Given the description of an element on the screen output the (x, y) to click on. 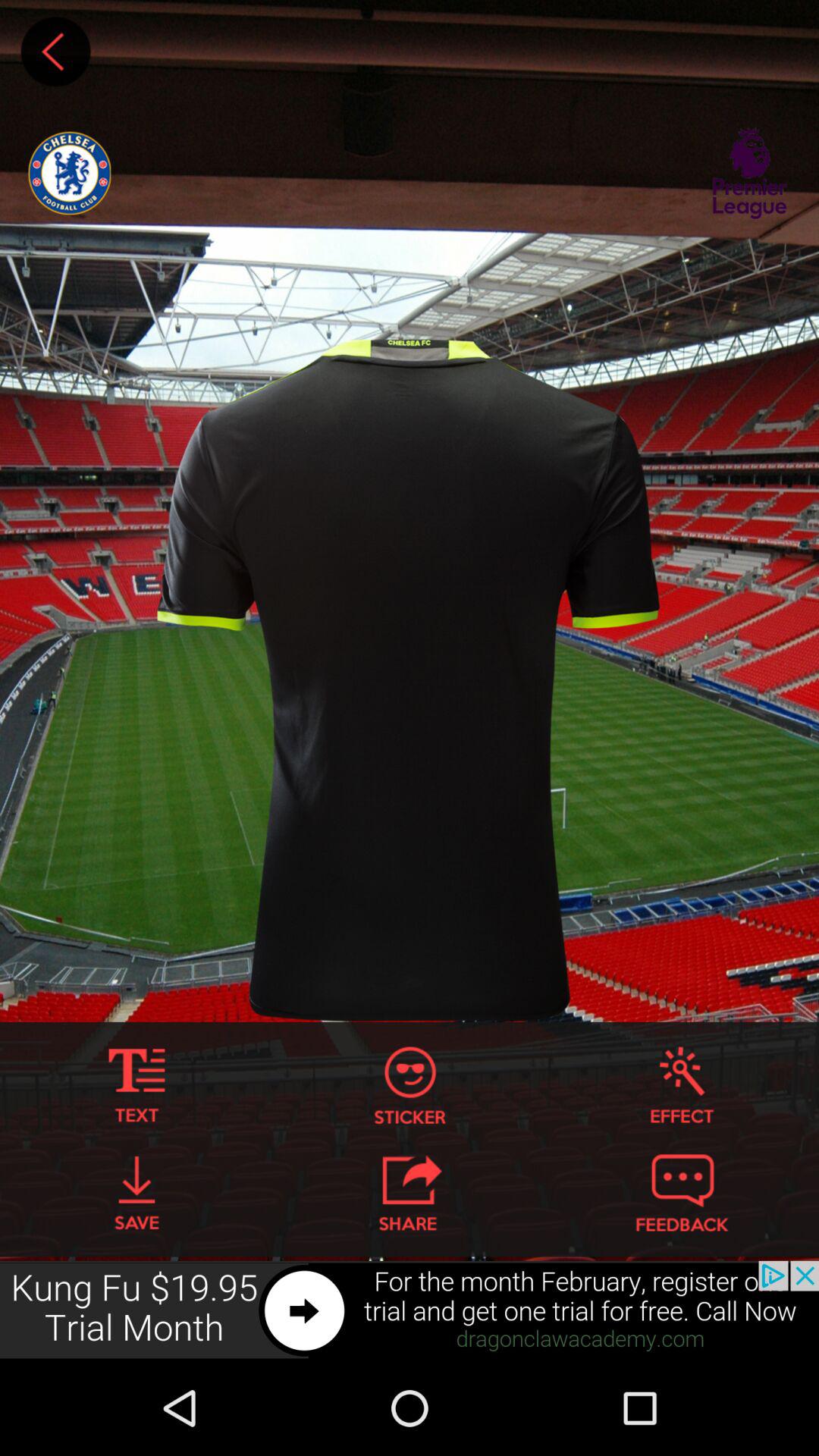
share the image (409, 1193)
